Given the description of an element on the screen output the (x, y) to click on. 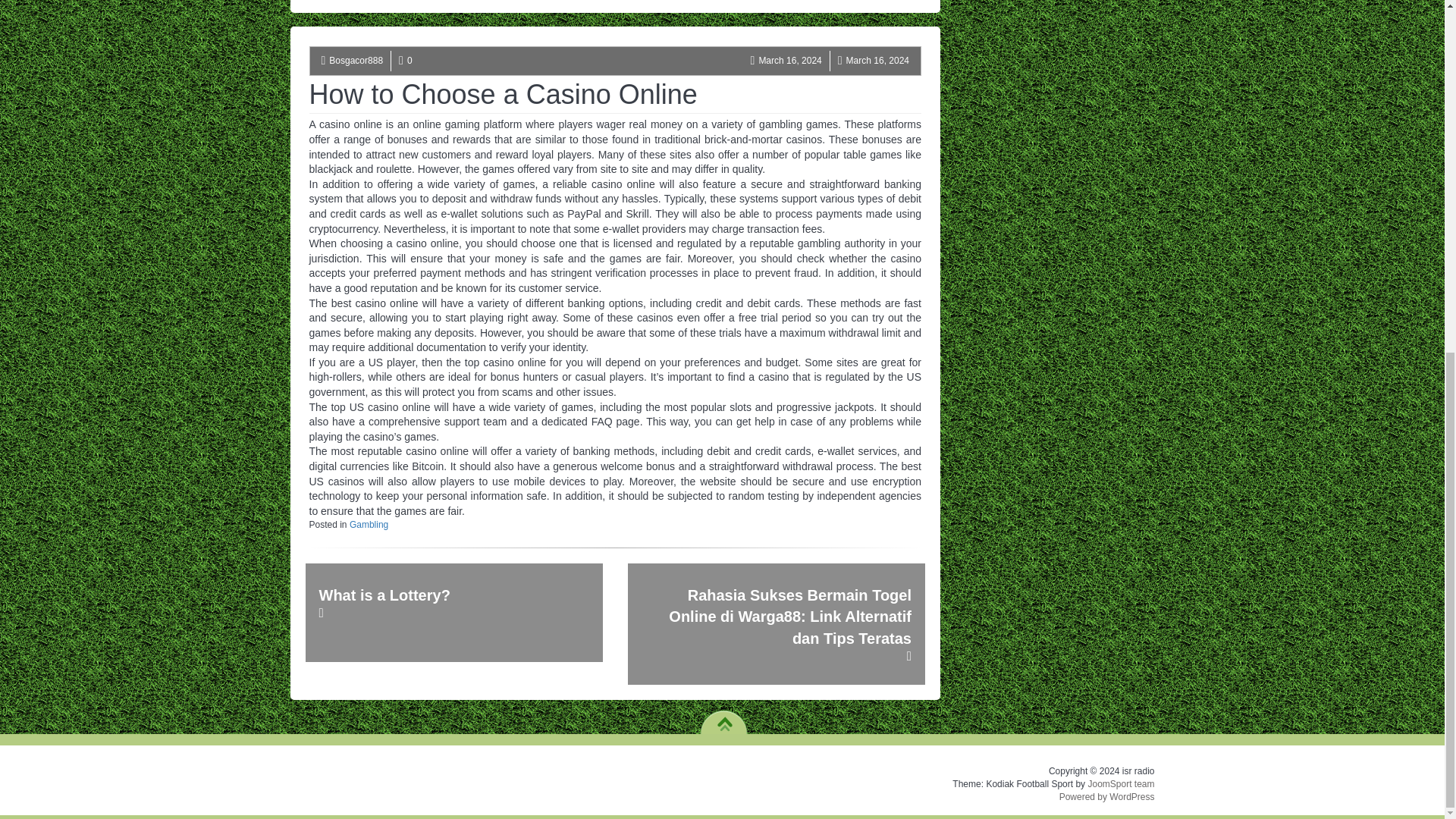
Gambling (368, 524)
Bosgacor888 (355, 60)
 The Best WordPress Sport Plugin for your league and club  (1120, 783)
What is a Lottery? (453, 612)
